Given the description of an element on the screen output the (x, y) to click on. 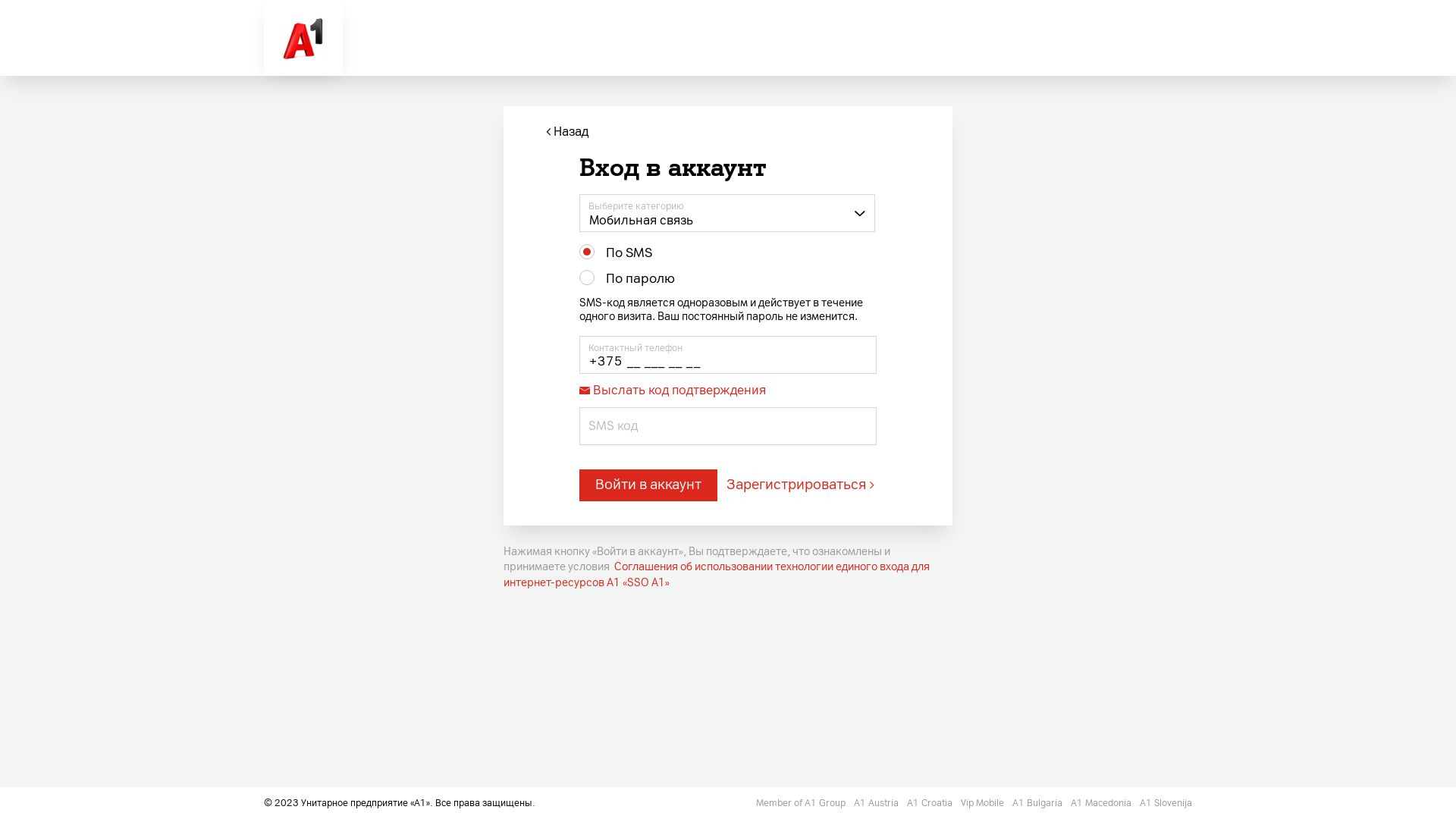
A1 Slovenija Element type: text (1165, 802)
A1 Bulgaria Element type: text (1038, 802)
A1 Macedonia Element type: text (1101, 802)
A1 Croatia Element type: text (930, 802)
A1 Austria Element type: text (876, 802)
Member of A1 Group Element type: text (801, 802)
Vip Mobile Element type: text (983, 802)
